Given the description of an element on the screen output the (x, y) to click on. 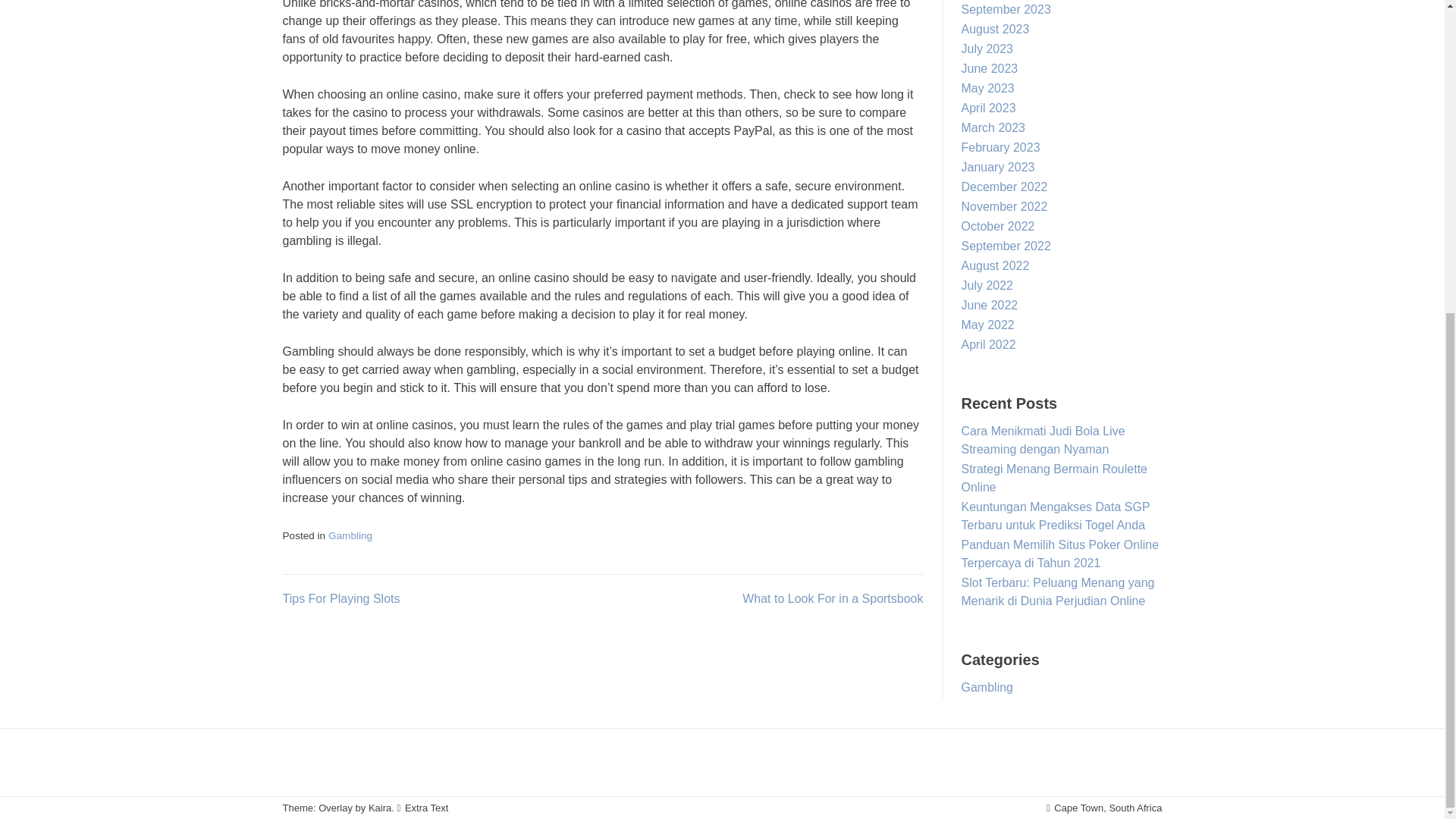
November 2022 (1004, 205)
June 2023 (988, 68)
May 2023 (987, 88)
What to Look For in a Sportsbook (832, 598)
April 2023 (988, 107)
August 2022 (994, 265)
September 2022 (1005, 245)
March 2023 (993, 127)
October 2022 (997, 226)
July 2023 (986, 48)
